Given the description of an element on the screen output the (x, y) to click on. 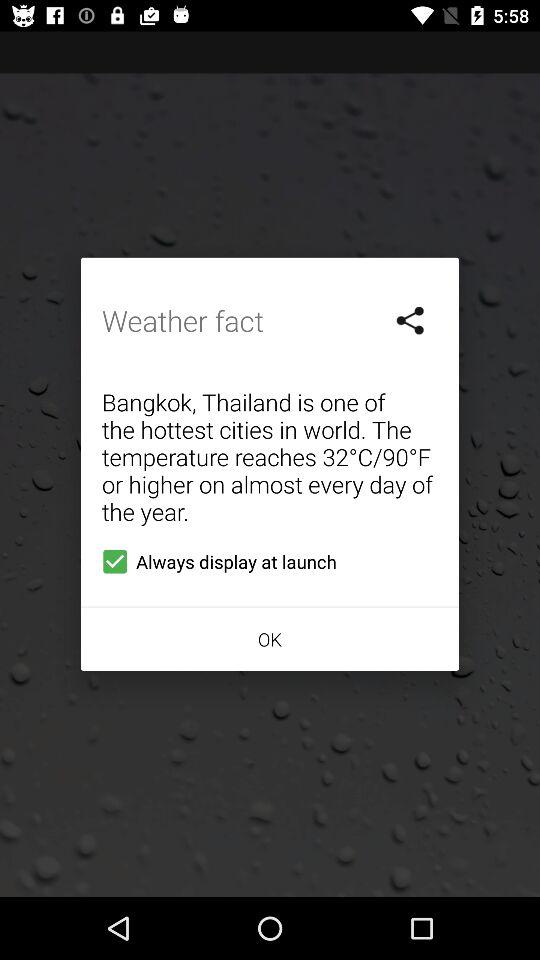
choose always display at icon (215, 561)
